Given the description of an element on the screen output the (x, y) to click on. 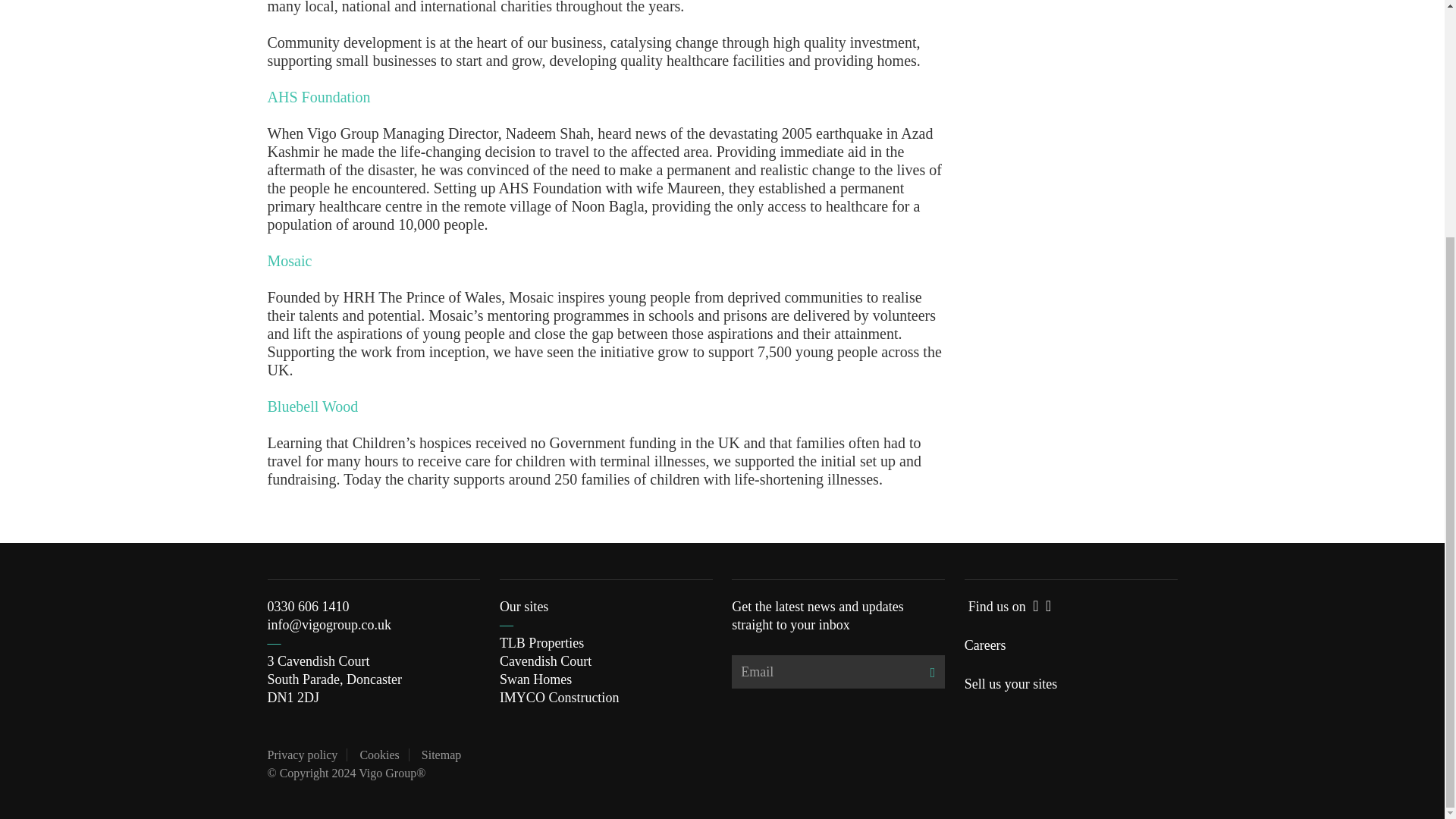
Careers (984, 645)
Swan Homes (535, 679)
Privacy policy (301, 754)
IMYCO Construction (559, 697)
Sell us your sites (1010, 683)
Cavendish Court (545, 661)
TLB Properties (541, 642)
Sitemap (441, 754)
Cookies (378, 754)
